Given the description of an element on the screen output the (x, y) to click on. 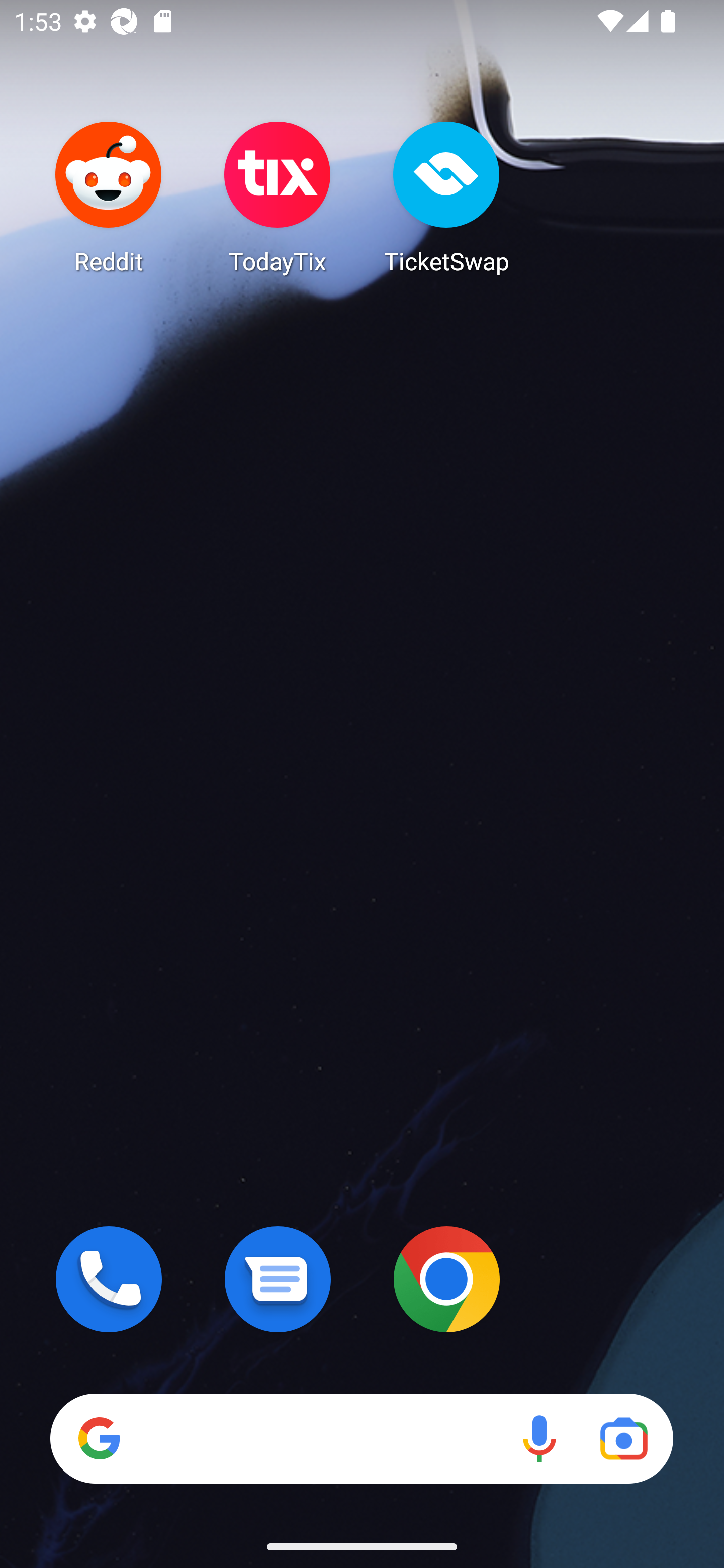
Reddit (108, 196)
TodayTix (277, 196)
TicketSwap (445, 196)
Phone (108, 1279)
Messages (277, 1279)
Chrome (446, 1279)
Voice search (539, 1438)
Google Lens (623, 1438)
